Given the description of an element on the screen output the (x, y) to click on. 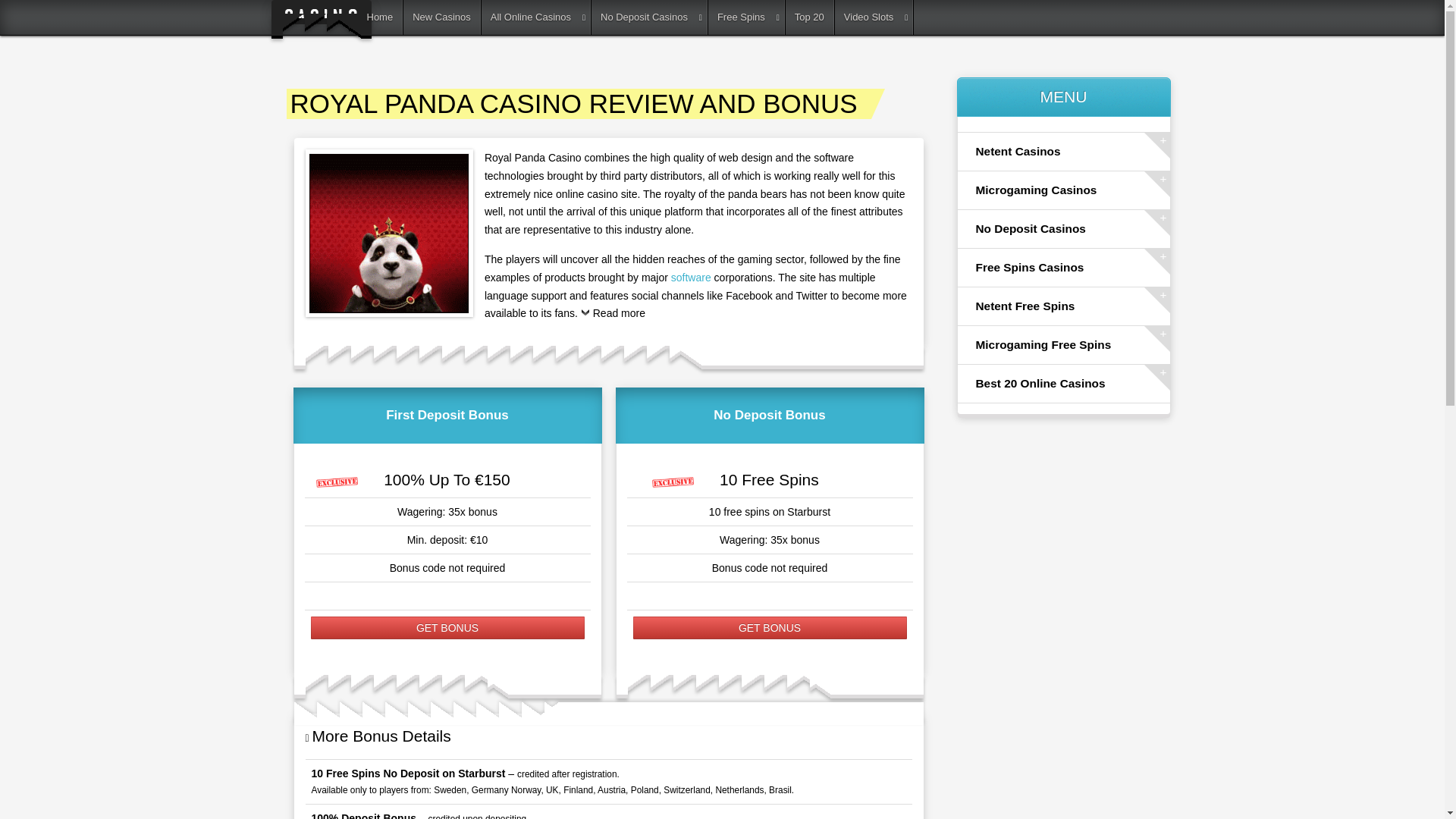
Top 20 (810, 17)
No Deposit Casinos (1063, 228)
GET BONUS (768, 627)
Microgaming Free Spins (1063, 344)
All Online Casinos (536, 17)
Video Slots (874, 17)
New Casinos (441, 17)
Read more (612, 316)
Netent Casinos (1063, 151)
Free Spins Casinos (1063, 267)
